Given the description of an element on the screen output the (x, y) to click on. 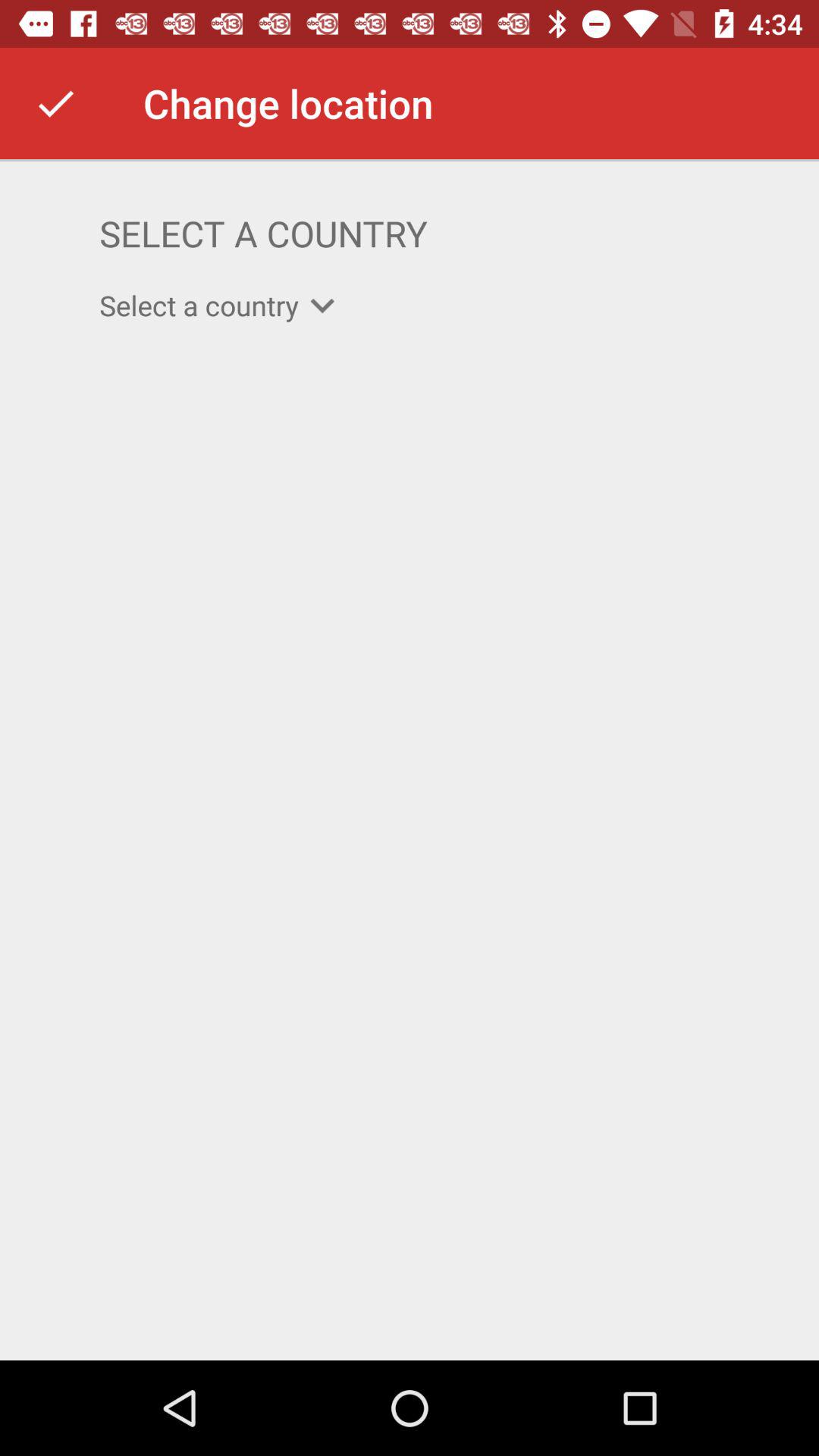
turn on the item next to the change location item (55, 103)
